Given the description of an element on the screen output the (x, y) to click on. 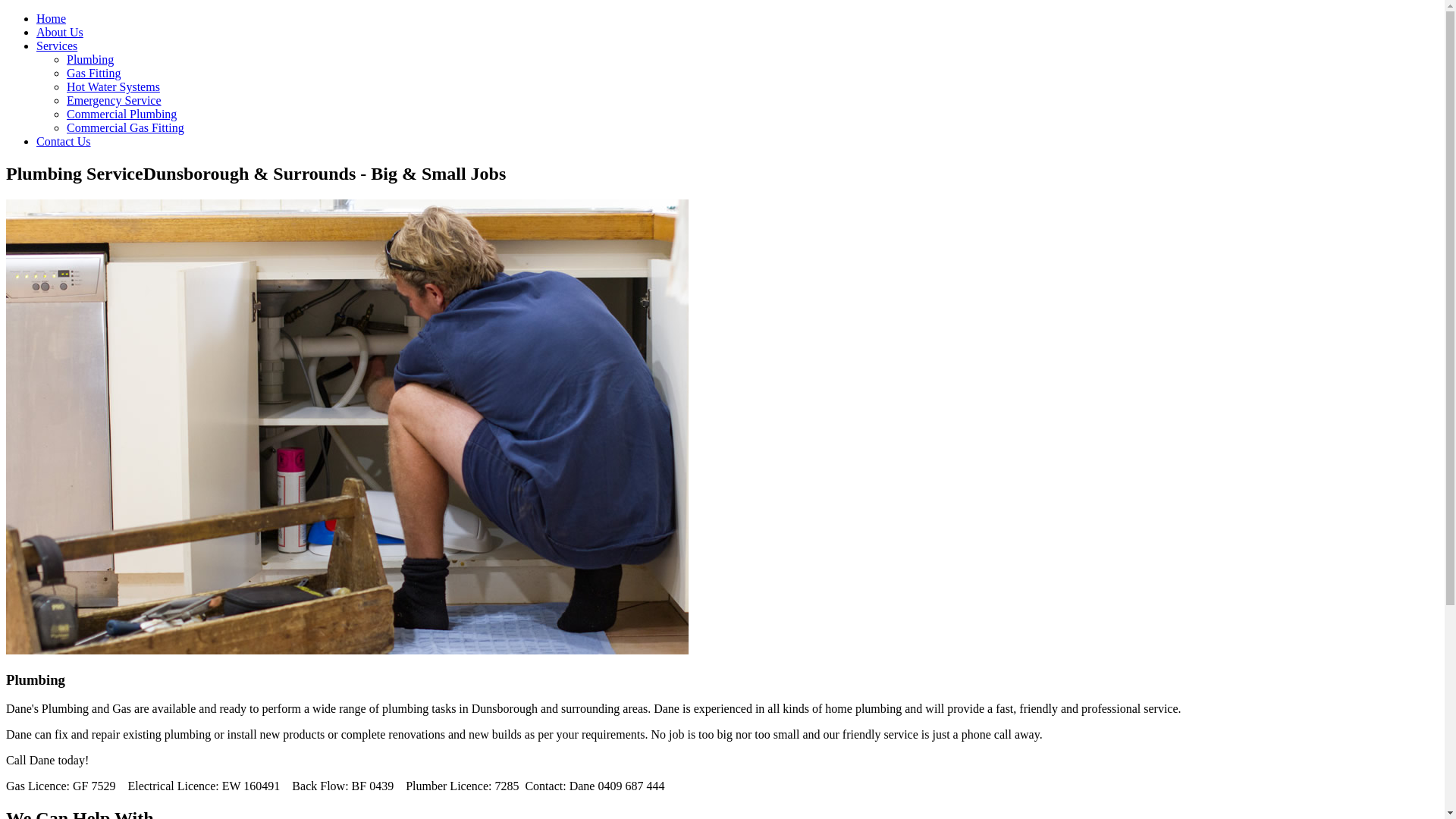
Services Element type: text (56, 45)
Gas Fitting Element type: text (93, 72)
Home Element type: text (50, 18)
About Us Element type: text (59, 31)
Commercial Plumbing Element type: text (121, 113)
Contact Us Element type: text (63, 140)
Plumbing Element type: text (89, 59)
Emergency Service Element type: text (113, 100)
Commercial Gas Fitting Element type: text (125, 127)
Hot Water Systems Element type: text (113, 86)
